Given the description of an element on the screen output the (x, y) to click on. 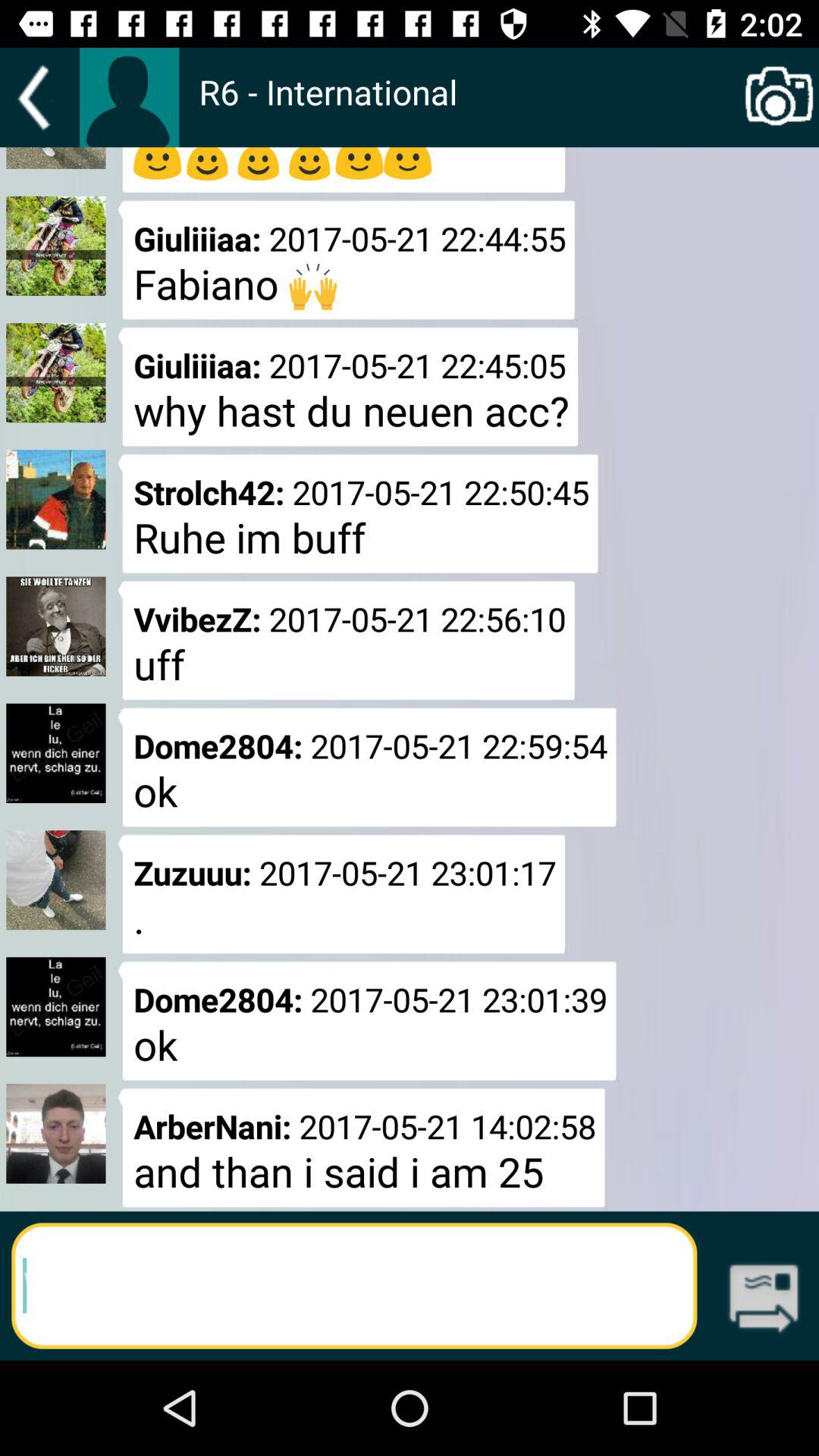
go to search (354, 1285)
